Given the description of an element on the screen output the (x, y) to click on. 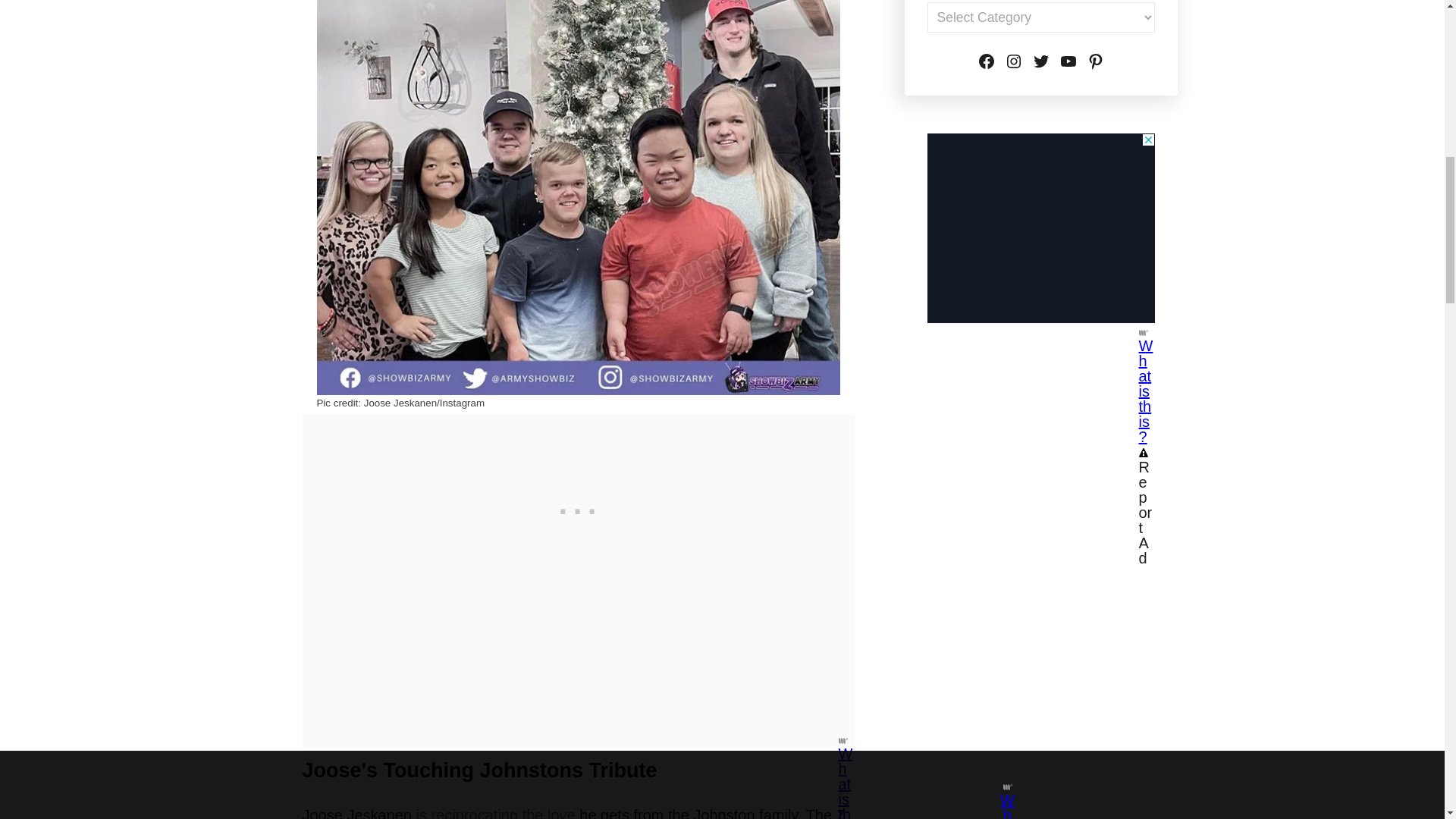
3rd party ad content (1040, 227)
is reciprocating the love (495, 812)
3rd party ad content (577, 507)
